Given the description of an element on the screen output the (x, y) to click on. 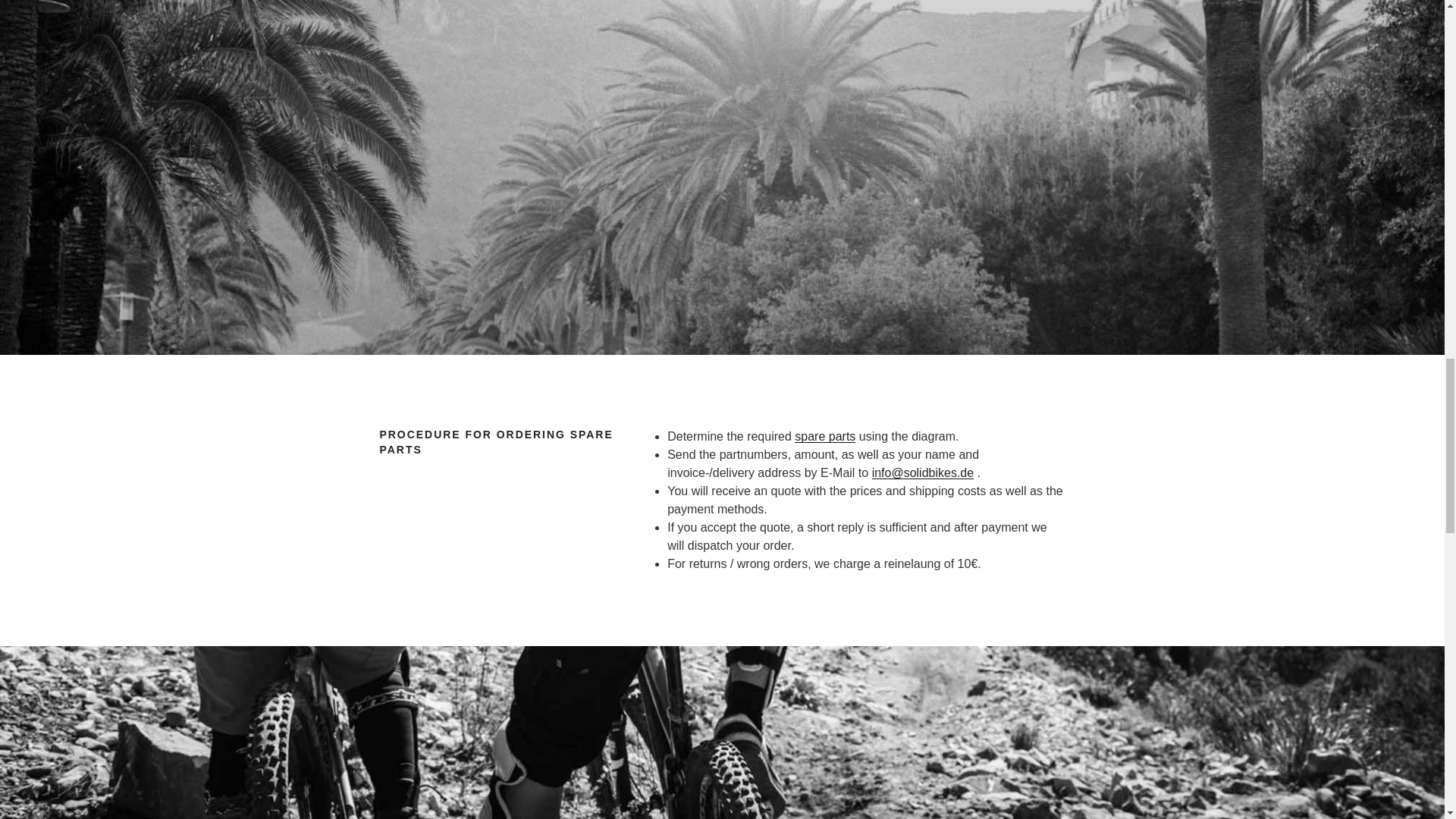
spare parts (825, 436)
